Given the description of an element on the screen output the (x, y) to click on. 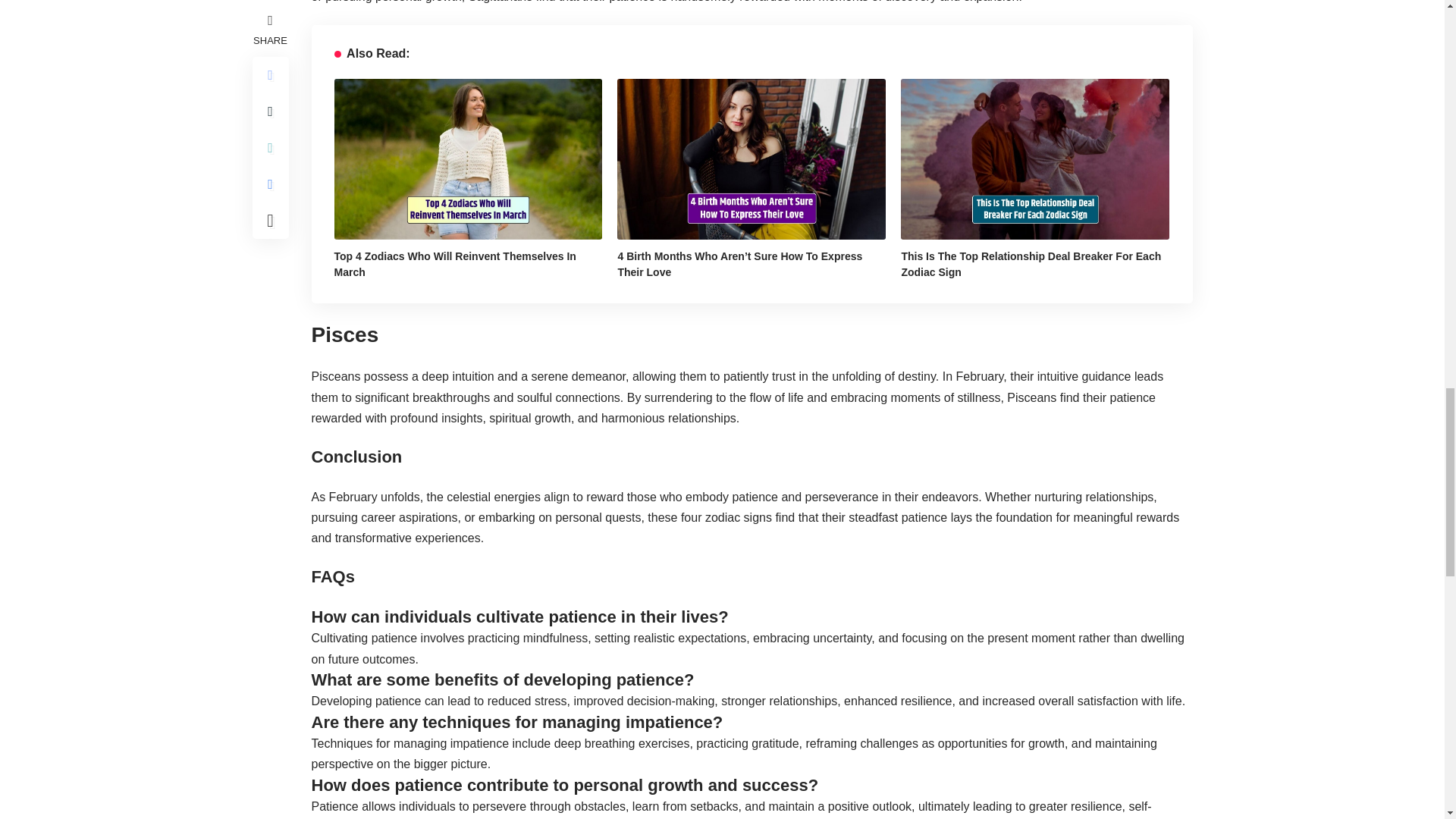
Top 4 Zodiacs Who Will Reinvent Themselves In March (467, 158)
